Given the description of an element on the screen output the (x, y) to click on. 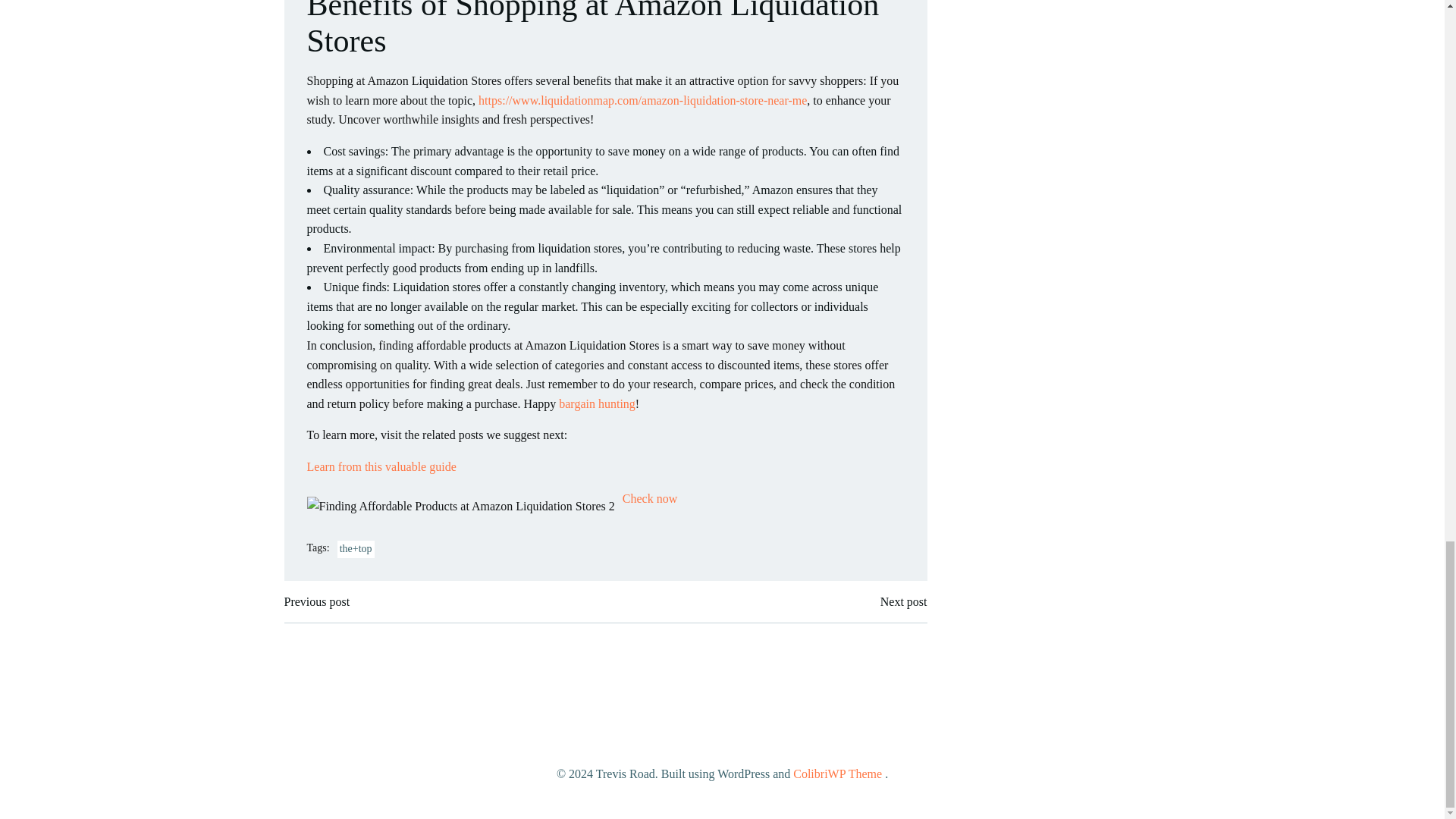
bargain hunting (596, 403)
Previous post (316, 601)
ColibriWP Theme (837, 773)
Check now (650, 498)
Learn from this valuable guide (380, 466)
Next post (903, 601)
